Given the description of an element on the screen output the (x, y) to click on. 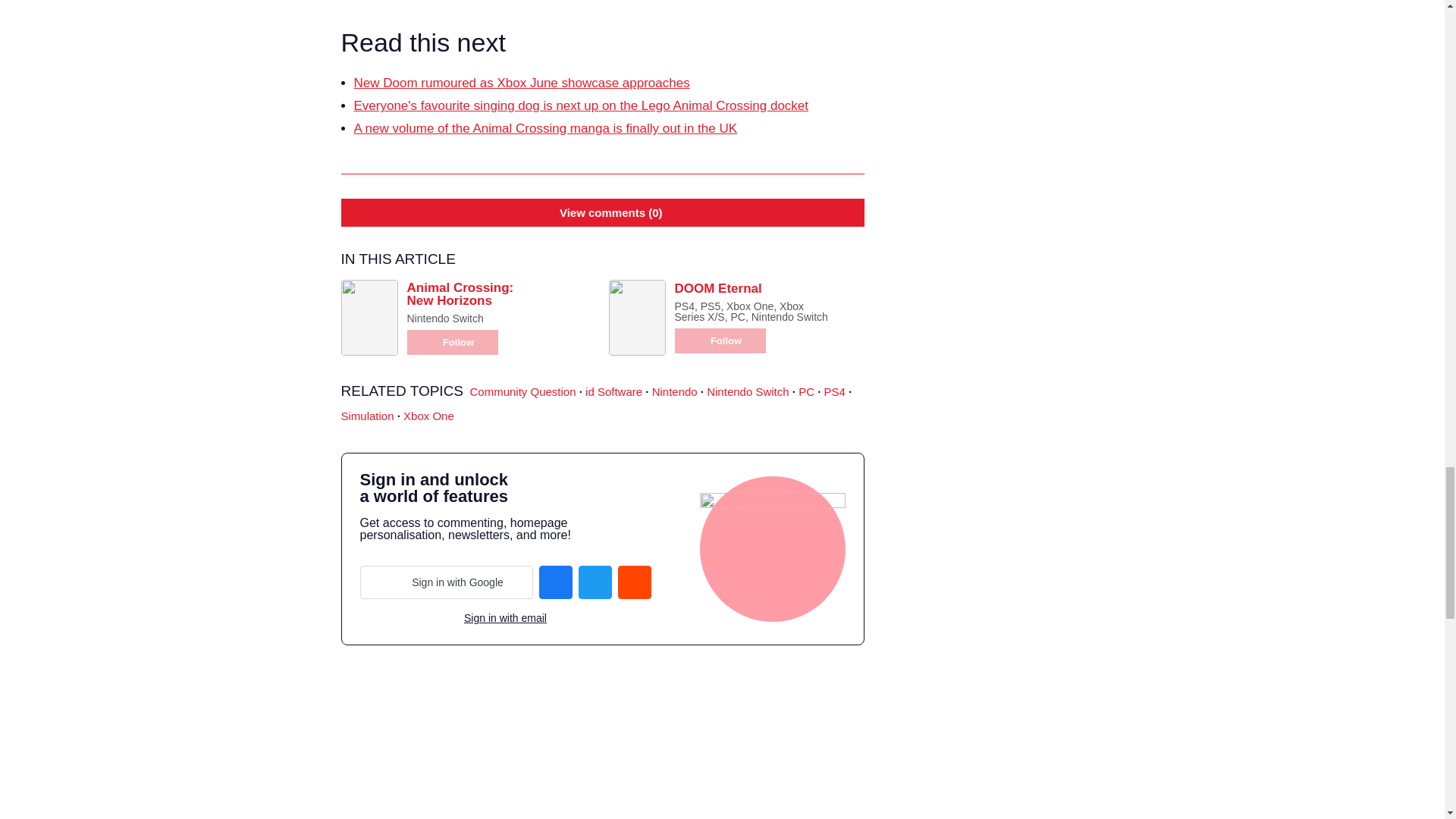
Follow (451, 342)
New Doom rumoured as Xbox June showcase approaches (520, 83)
Follow Animal Crossing: New Horizons (451, 342)
Animal Crossing: New Horizons (459, 293)
